Given the description of an element on the screen output the (x, y) to click on. 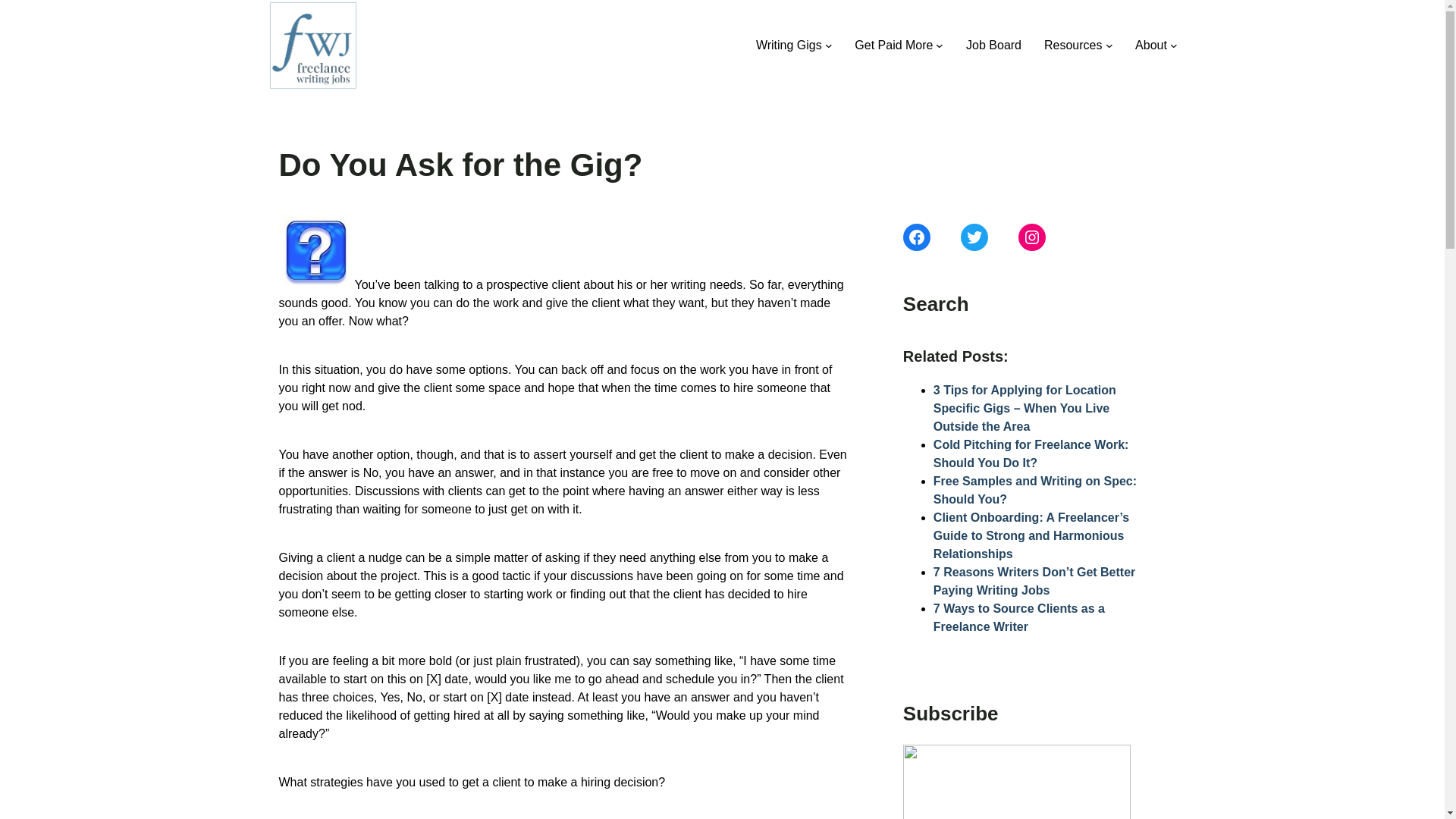
Get Paid More (893, 45)
Resources (1072, 45)
Job Board (994, 45)
Cold Pitching for Freelance Work: Should You Do It? (1031, 453)
7 Ways to Source Clients as a Freelance Writer (1019, 617)
Writing Gigs (788, 45)
About (1151, 45)
Free Samples and Writing on Spec: Should You? (1035, 490)
